Given the description of an element on the screen output the (x, y) to click on. 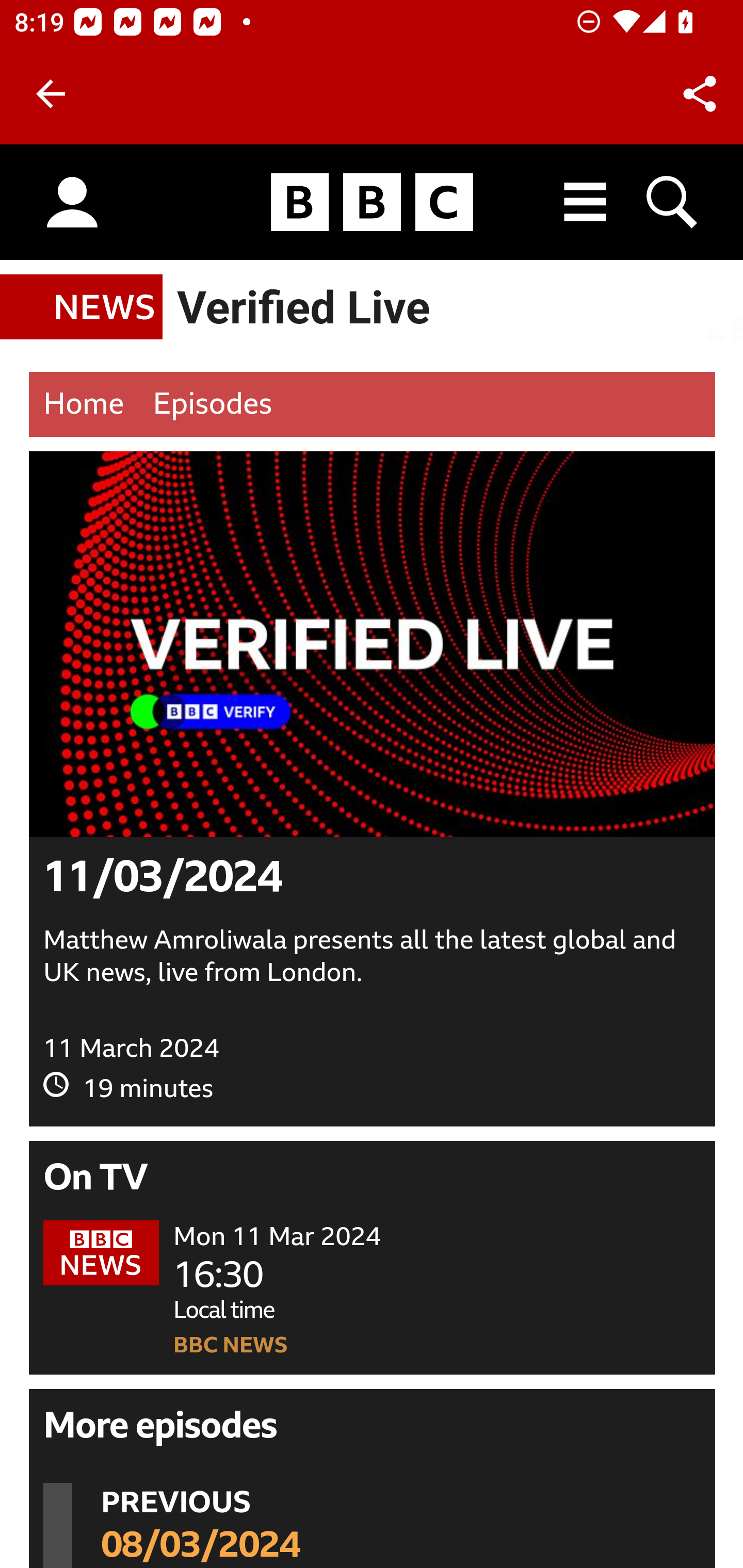
Back (50, 93)
Share (699, 93)
All BBC destinations menu (585, 202)
Search BBC (672, 202)
Sign in (71, 203)
Homepage (371, 203)
BBC News (82, 307)
Verified Live (303, 309)
Home (83, 404)
Episodes (211, 404)
bbcnews (101, 1255)
BBC NEWS (231, 1345)
